Given the description of an element on the screen output the (x, y) to click on. 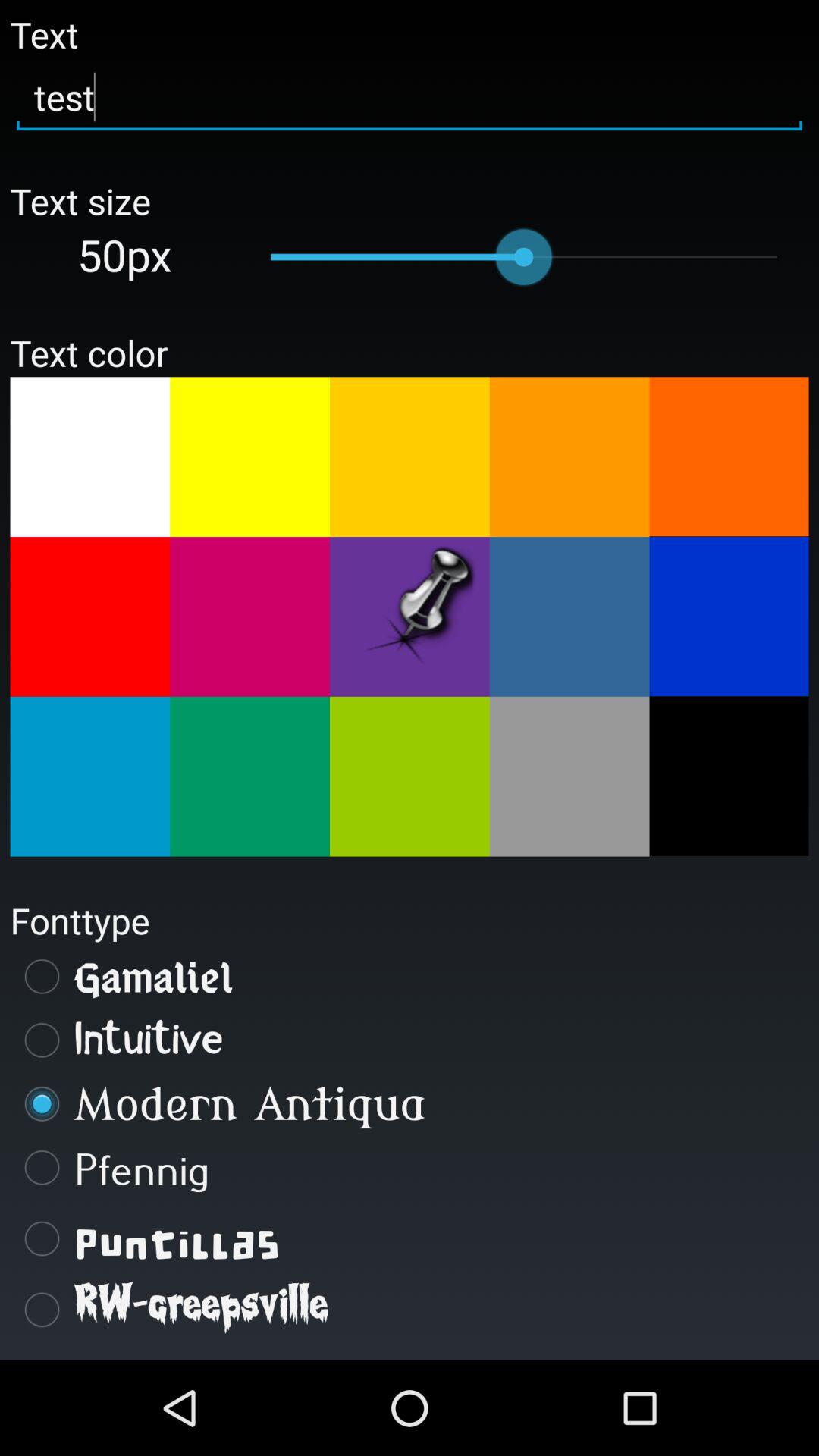
text color option (728, 456)
